Given the description of an element on the screen output the (x, y) to click on. 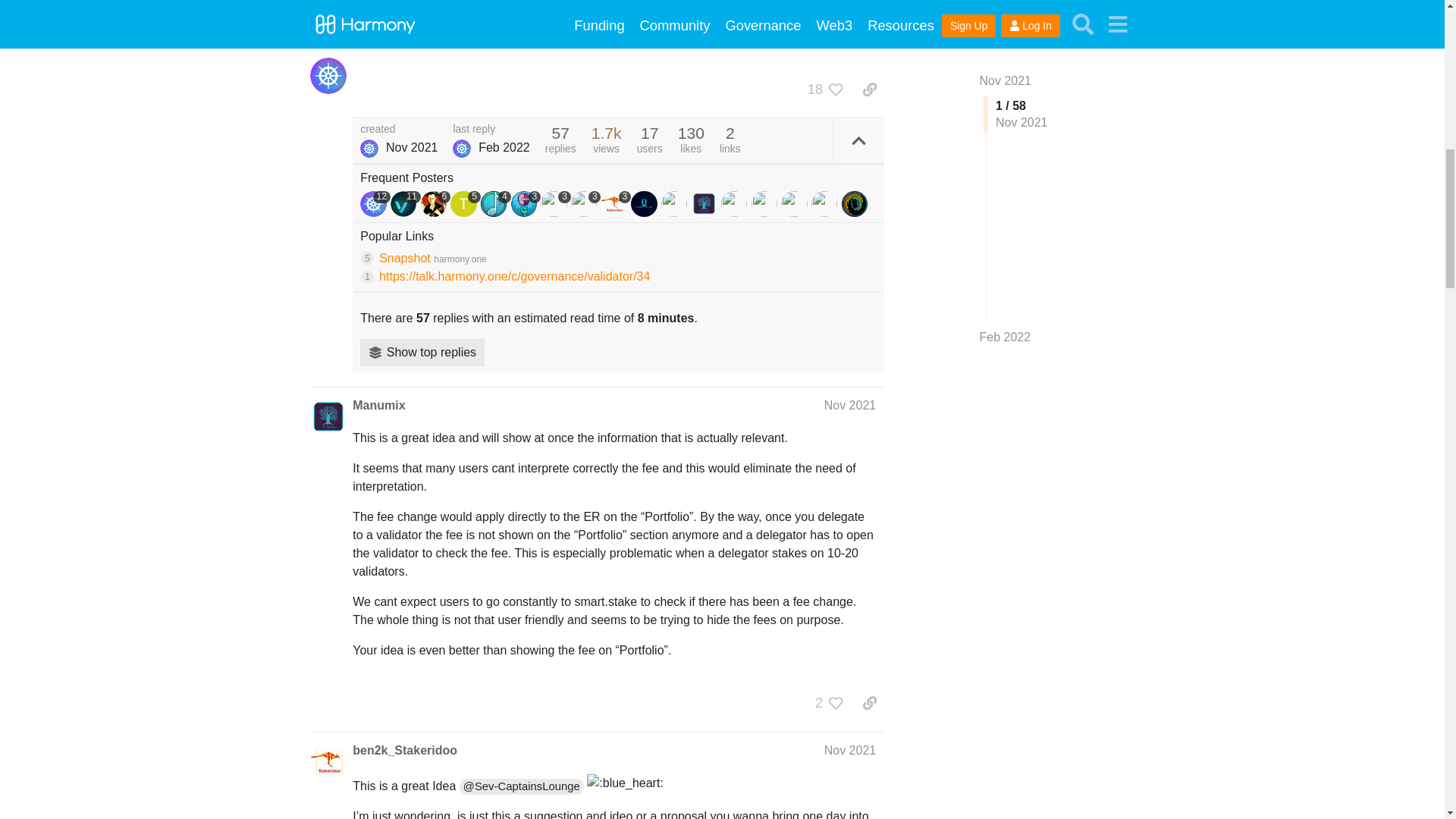
6 (435, 203)
11 (405, 203)
last reply (490, 129)
3 (526, 203)
collapse topic details (857, 139)
copy a link to this post to clipboard (869, 89)
12 (374, 203)
5 (464, 203)
Please sign up or log in to like this post (836, 89)
4 (495, 203)
